Given the description of an element on the screen output the (x, y) to click on. 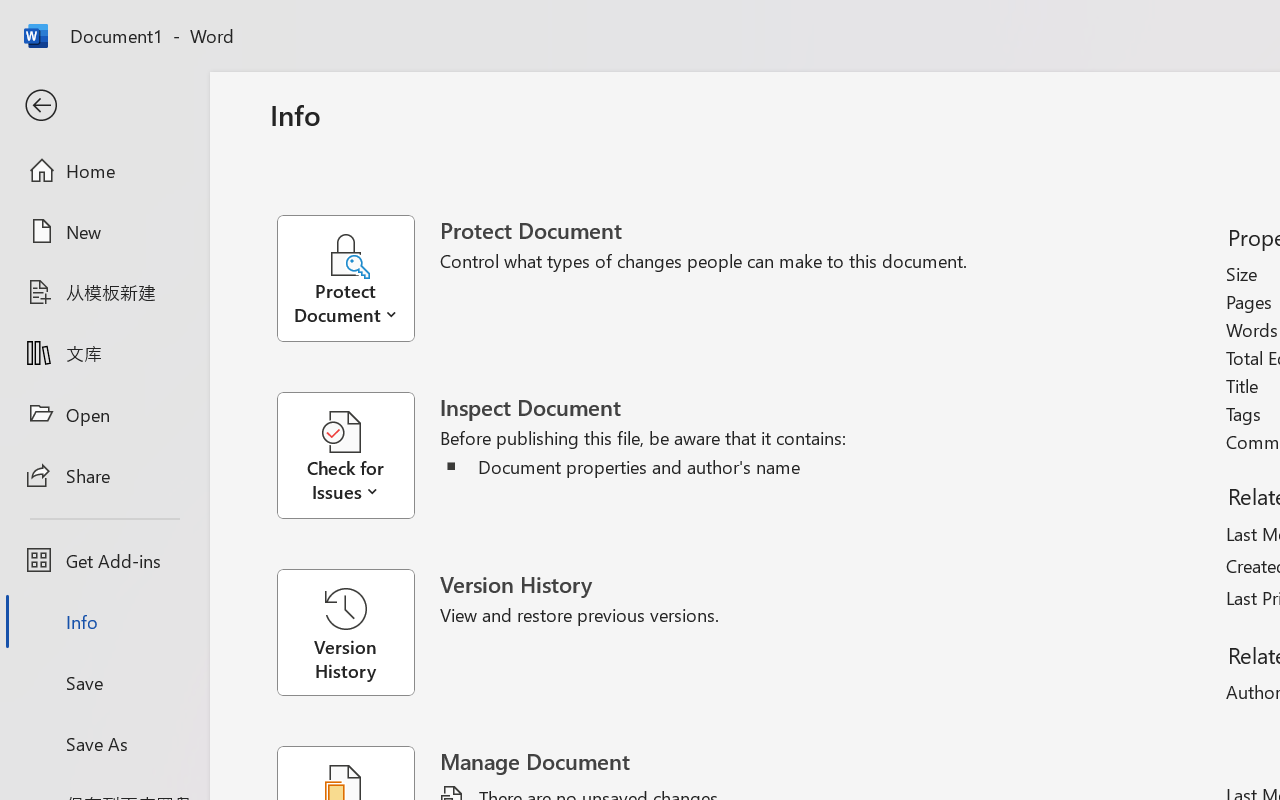
Protect Document (358, 278)
